Given the description of an element on the screen output the (x, y) to click on. 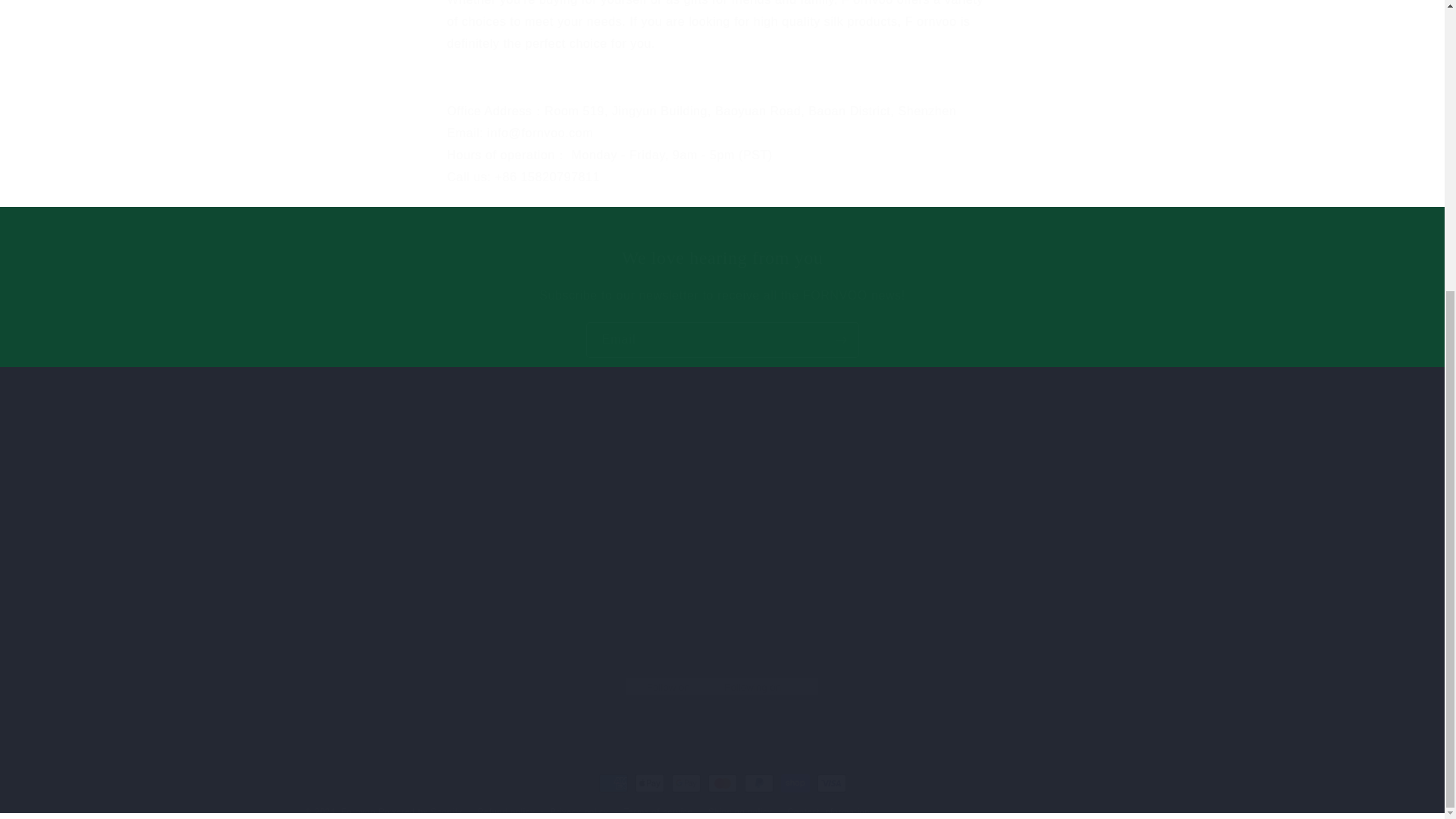
We love hearing from you (721, 258)
Subscribe to our newsletter to receive all the FORNVOO news! (722, 296)
Email (722, 339)
